Given the description of an element on the screen output the (x, y) to click on. 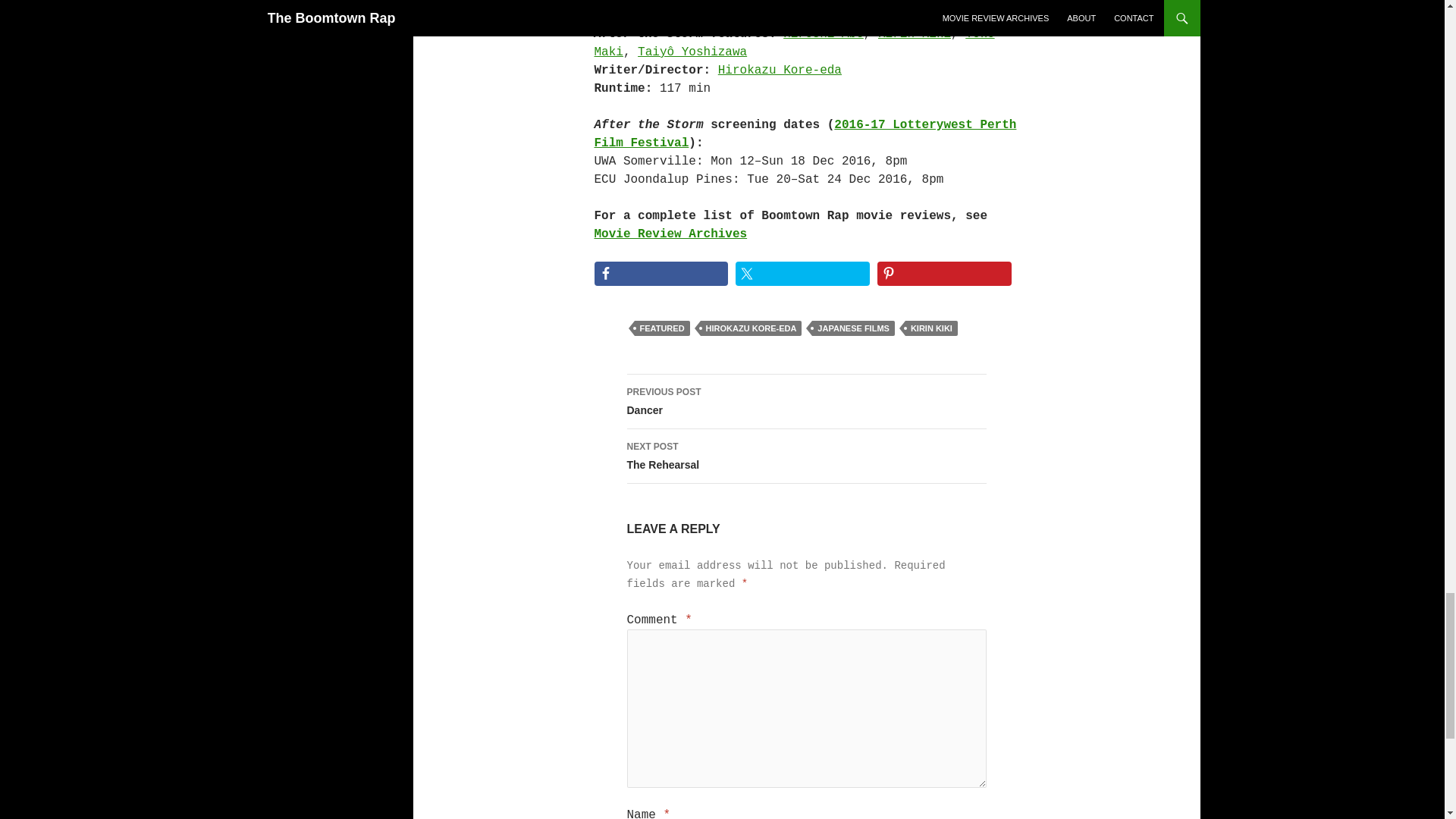
FEATURED (660, 328)
KIRIN KIKI (805, 456)
Share on Pinterest (931, 328)
Kirin Kiki (944, 273)
Share on Facebook (913, 33)
Share on Twitter (661, 273)
Hiroshi Abe (802, 273)
2016-17 Lotterywest Perth Film Festival (805, 401)
